Given the description of an element on the screen output the (x, y) to click on. 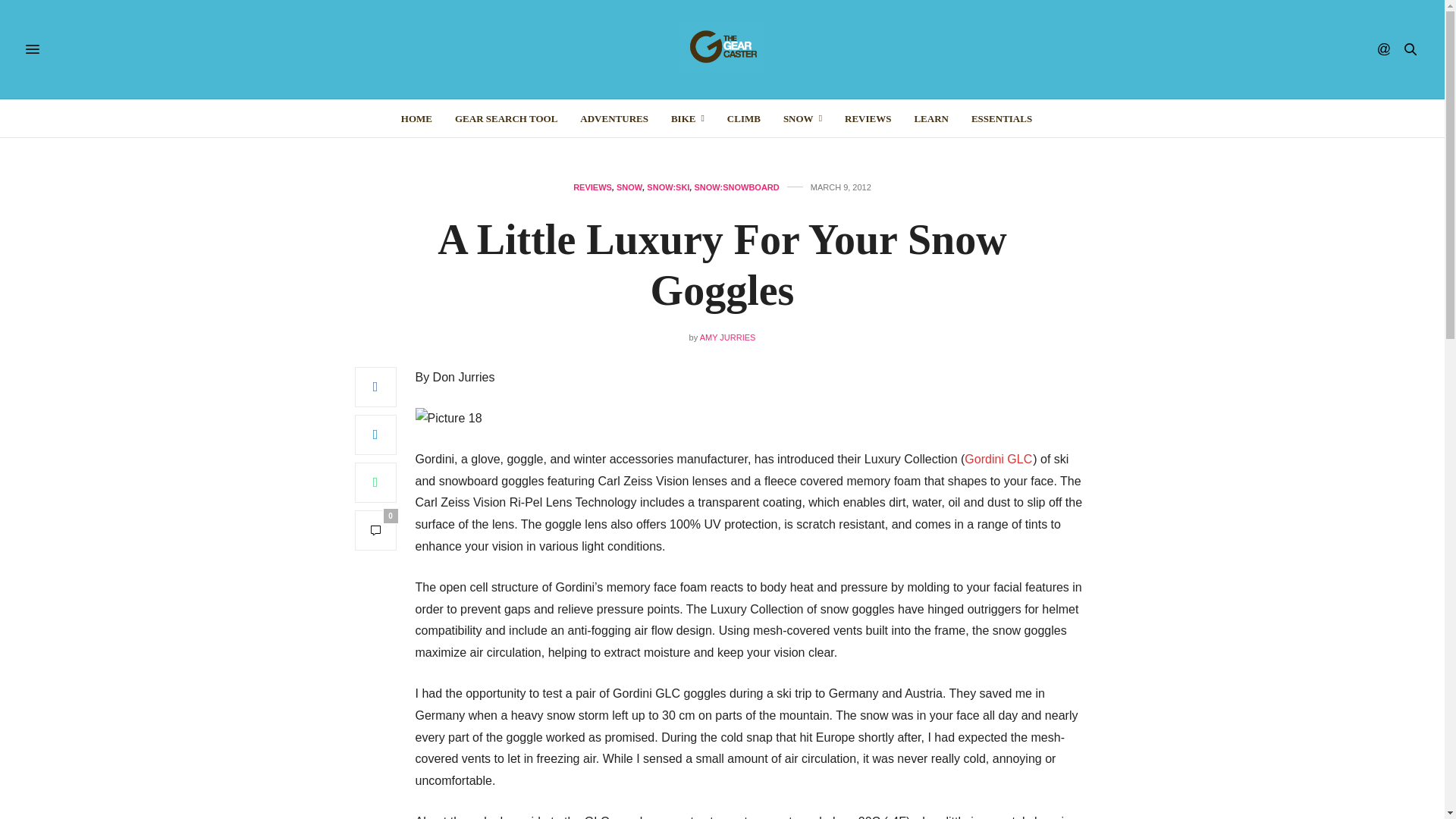
LEARN (931, 118)
The GearCaster (721, 49)
SNOW (802, 118)
ADVENTURES (613, 118)
Picture 18 (447, 418)
GEAR SEARCH TOOL (505, 118)
REVIEWS (867, 118)
Posts by Amy Jurries (727, 337)
